Given the description of an element on the screen output the (x, y) to click on. 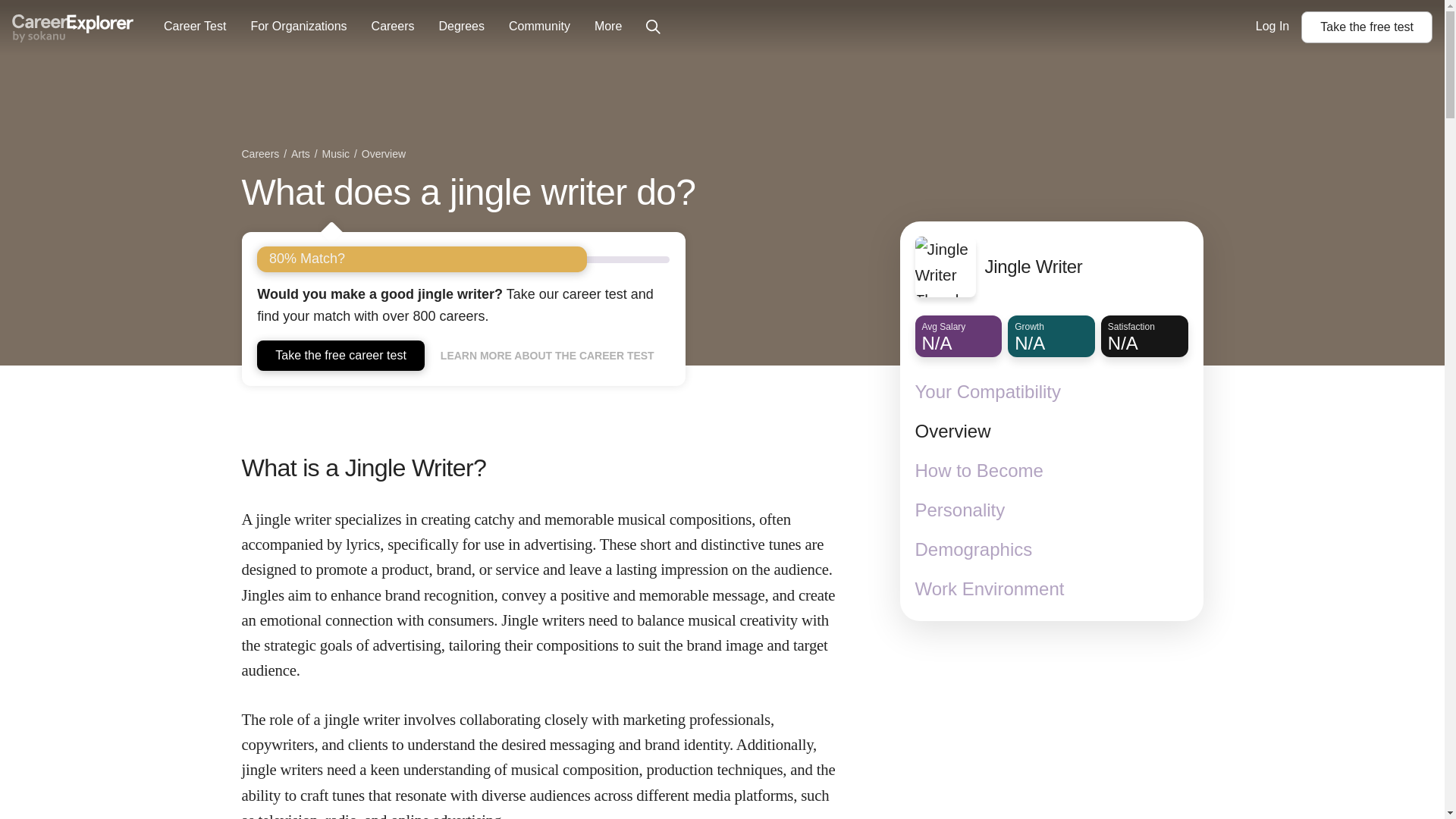
Take the free career test (341, 355)
LEARN MORE ABOUT THE CAREER TEST (547, 356)
Music (336, 154)
Community (539, 27)
Overview (383, 154)
Careers (261, 154)
Unfortunately, we don't have enough data for this (1144, 336)
CareerExplorer (1366, 26)
Unfortunately, we don't have enough data for this (72, 27)
